Given the description of an element on the screen output the (x, y) to click on. 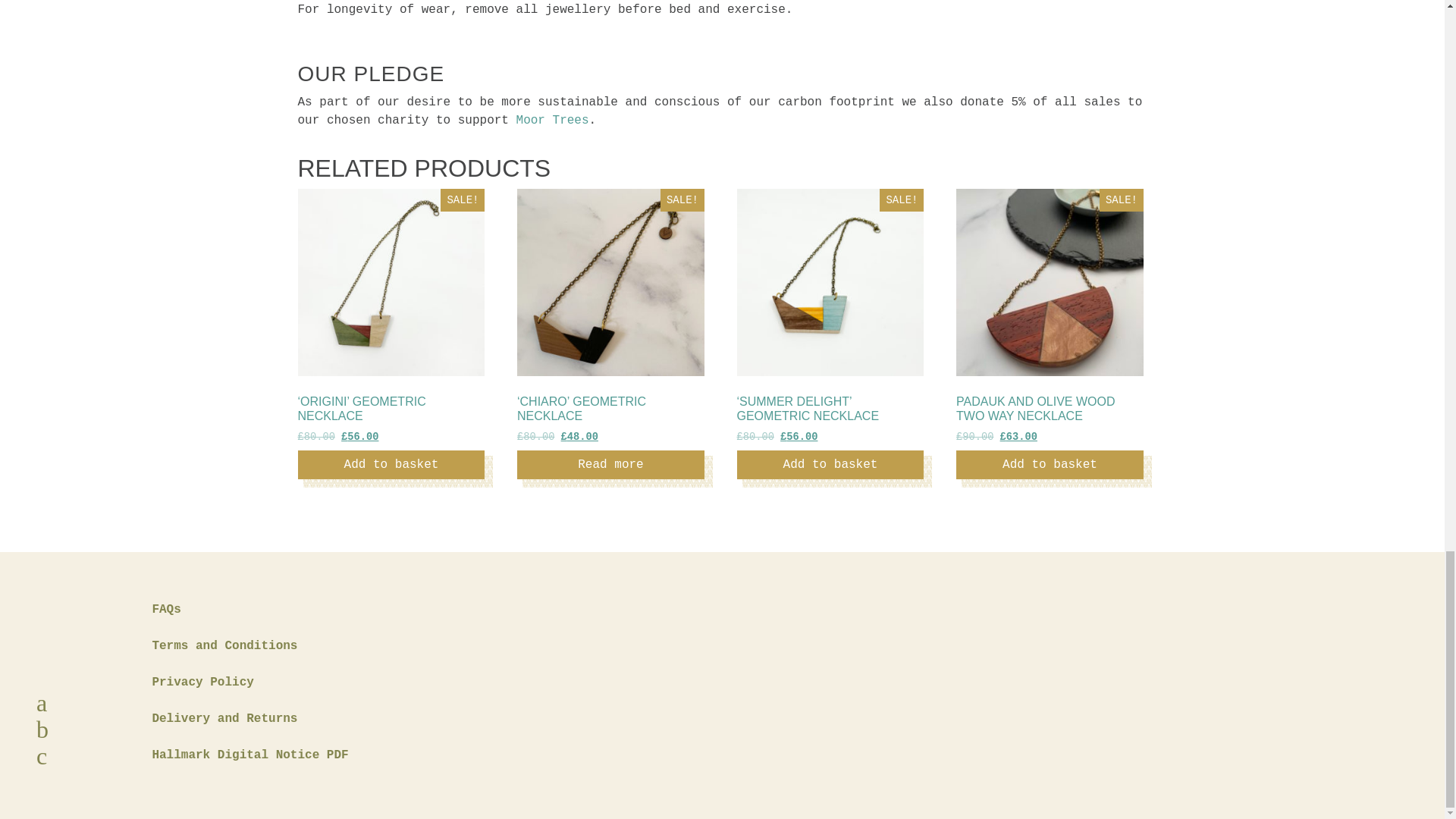
Terms and Conditions (224, 646)
Privacy Policy (202, 682)
Delivery and Returns (224, 719)
Hallmark Digital Notice PDF (249, 755)
Add to basket (830, 464)
Add to basket (1049, 464)
Add to basket (390, 464)
Moor Trees (552, 120)
FAQs (165, 609)
Read more (610, 464)
